Given the description of an element on the screen output the (x, y) to click on. 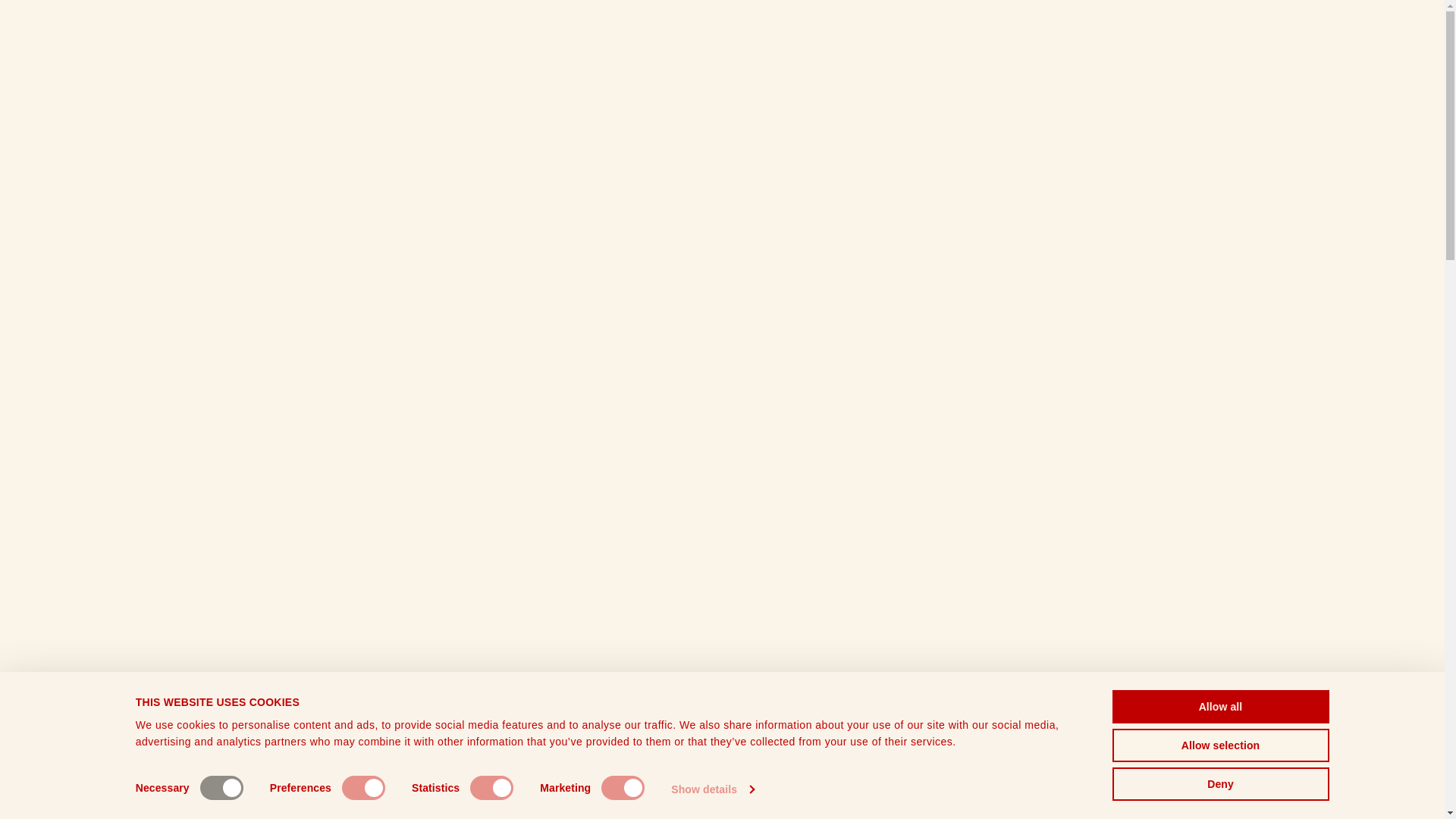
Allow all (1219, 706)
Instagram (1147, 686)
Allow selection (1219, 745)
Facebook (1109, 686)
LinkedIn (1223, 686)
Show details (712, 789)
Deny (1219, 783)
YouTube (1185, 685)
